Given the description of an element on the screen output the (x, y) to click on. 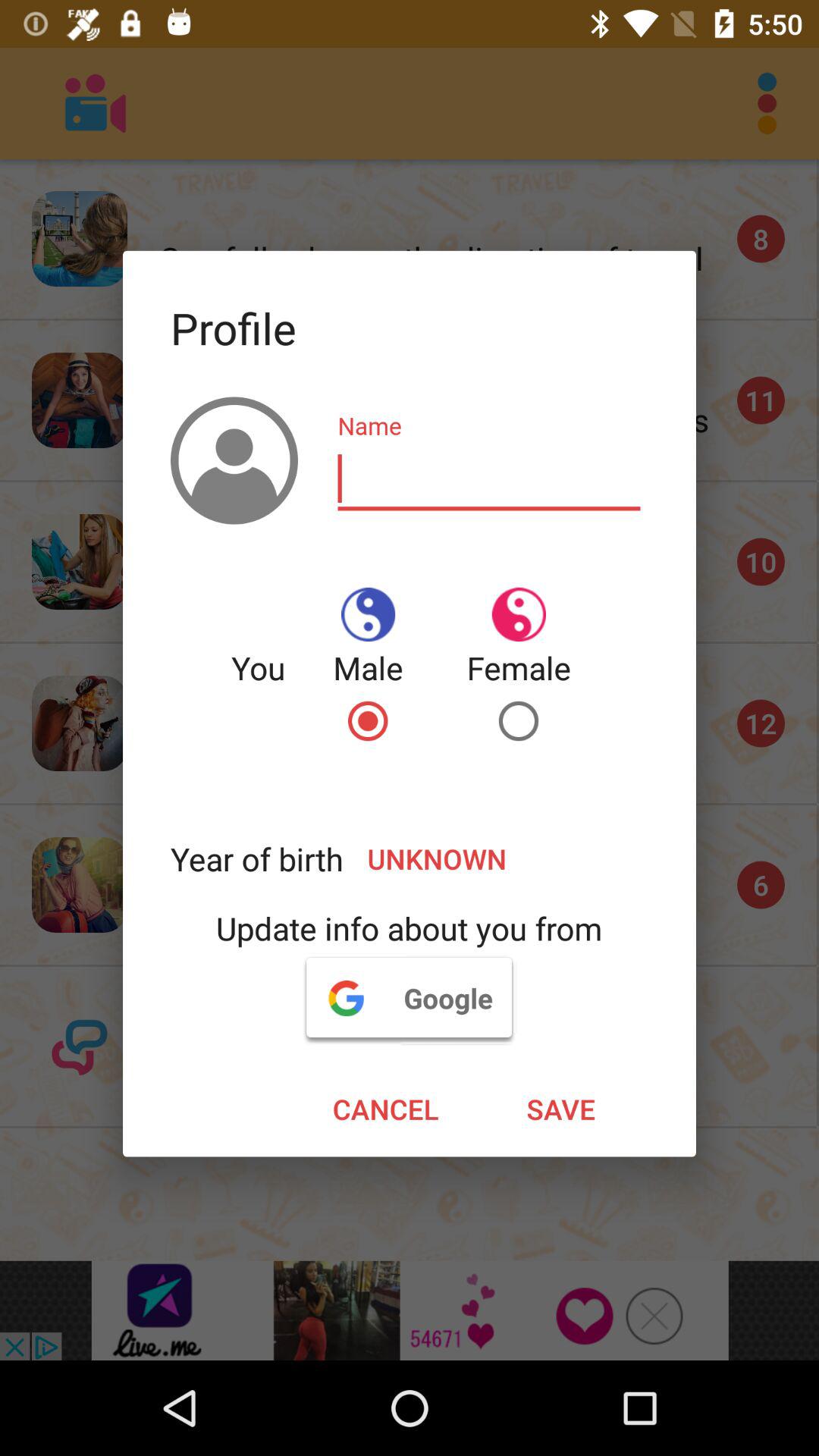
tap the icon below google (560, 1108)
